Given the description of an element on the screen output the (x, y) to click on. 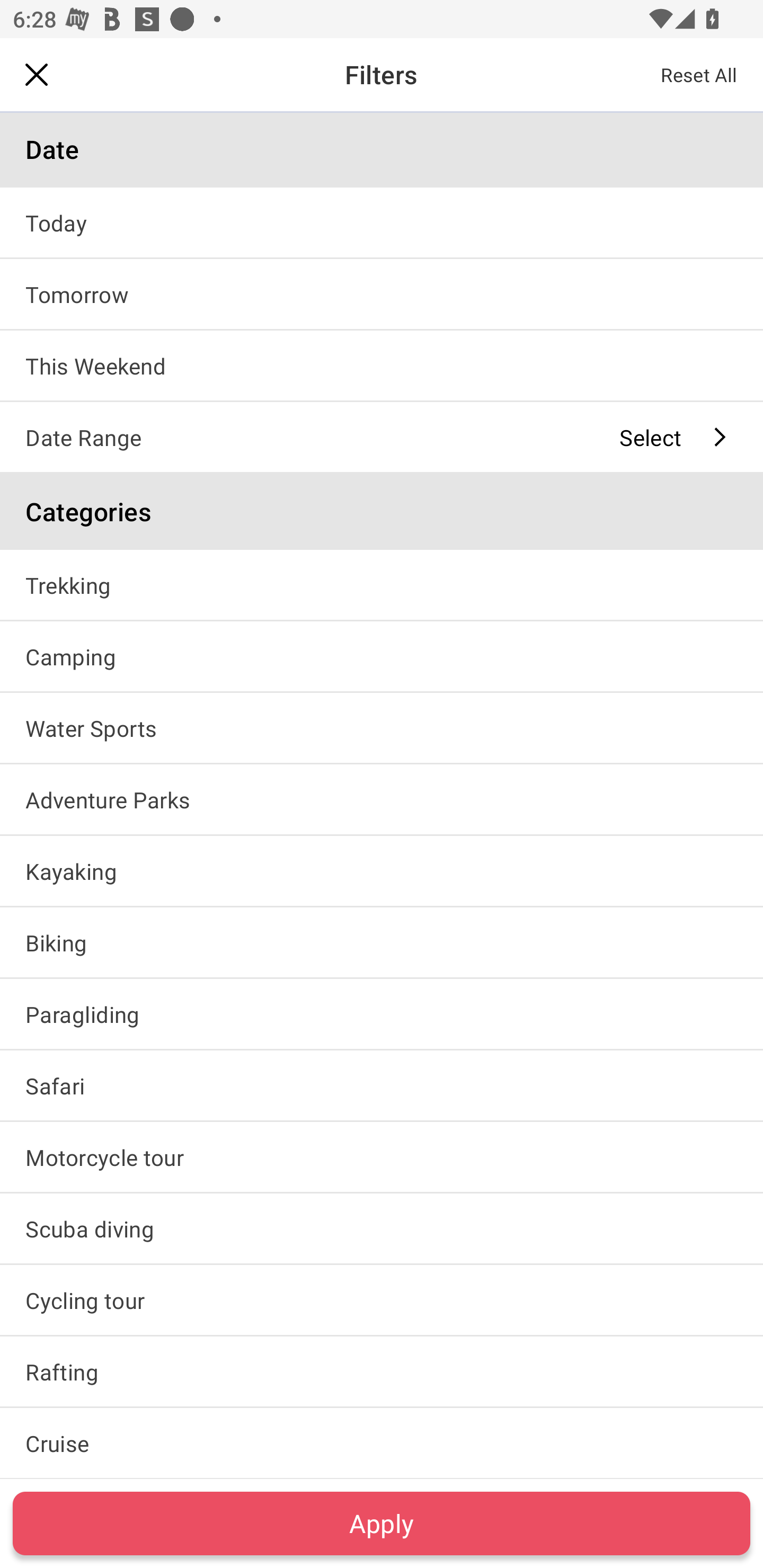
Close (36, 74)
Reset All (699, 74)
Today (381, 222)
Tomorrow (381, 293)
This Weekend (381, 364)
Date Range Select  Next (381, 436)
Trekking (381, 584)
Camping (381, 655)
Water Sports (381, 727)
Adventure Parks (381, 799)
Kayaking (381, 870)
Biking (381, 941)
Paragliding (381, 1013)
Safari (381, 1085)
Motorcycle tour (381, 1156)
Scuba diving (381, 1228)
Cycling tour (381, 1299)
Rafting (381, 1370)
Cruise (381, 1443)
Apply (381, 1523)
